Given the description of an element on the screen output the (x, y) to click on. 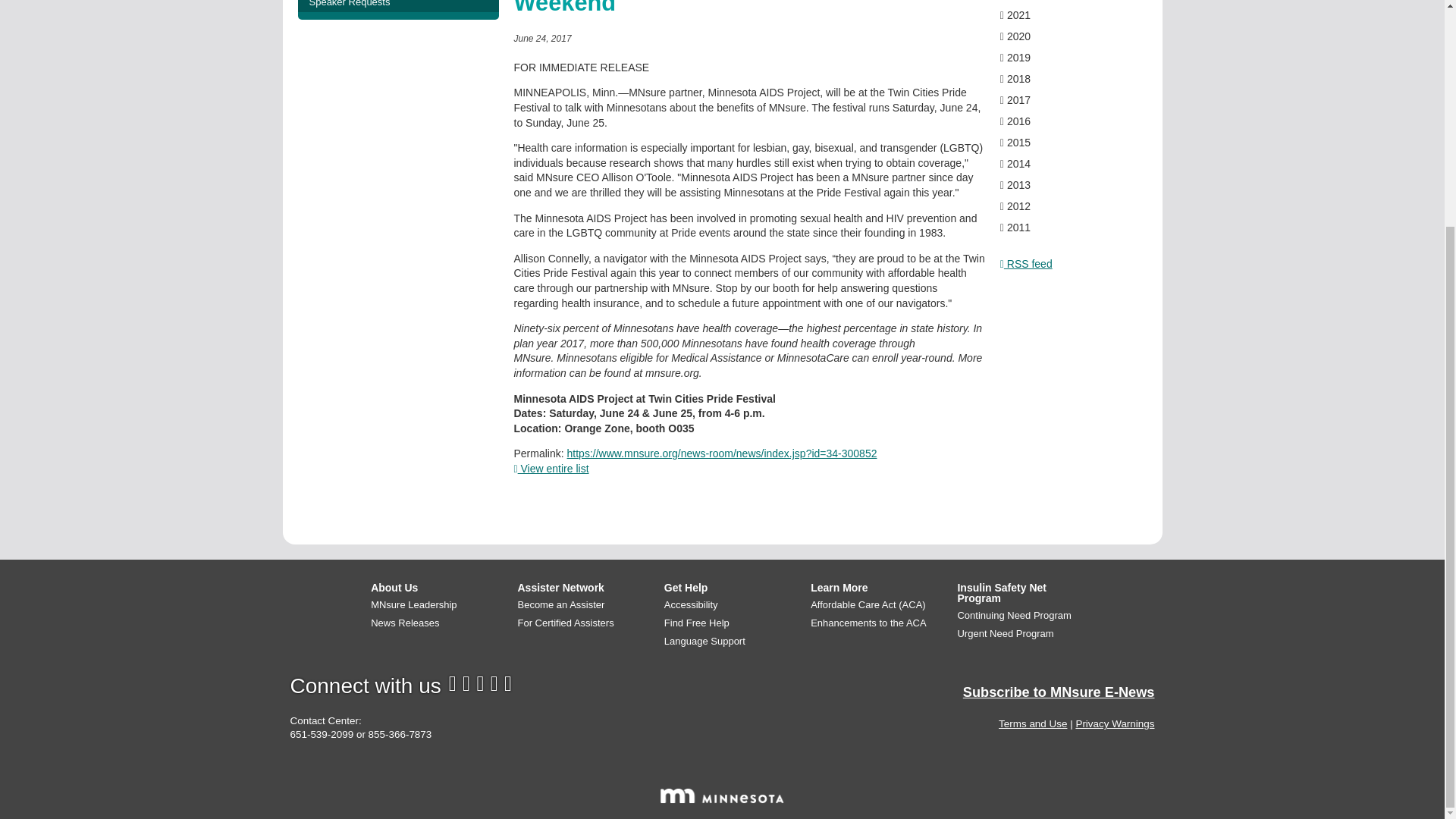
01 Intro - Privacy Warnings (1114, 723)
Proudly serving the State of Minnesota (722, 795)
